Given the description of an element on the screen output the (x, y) to click on. 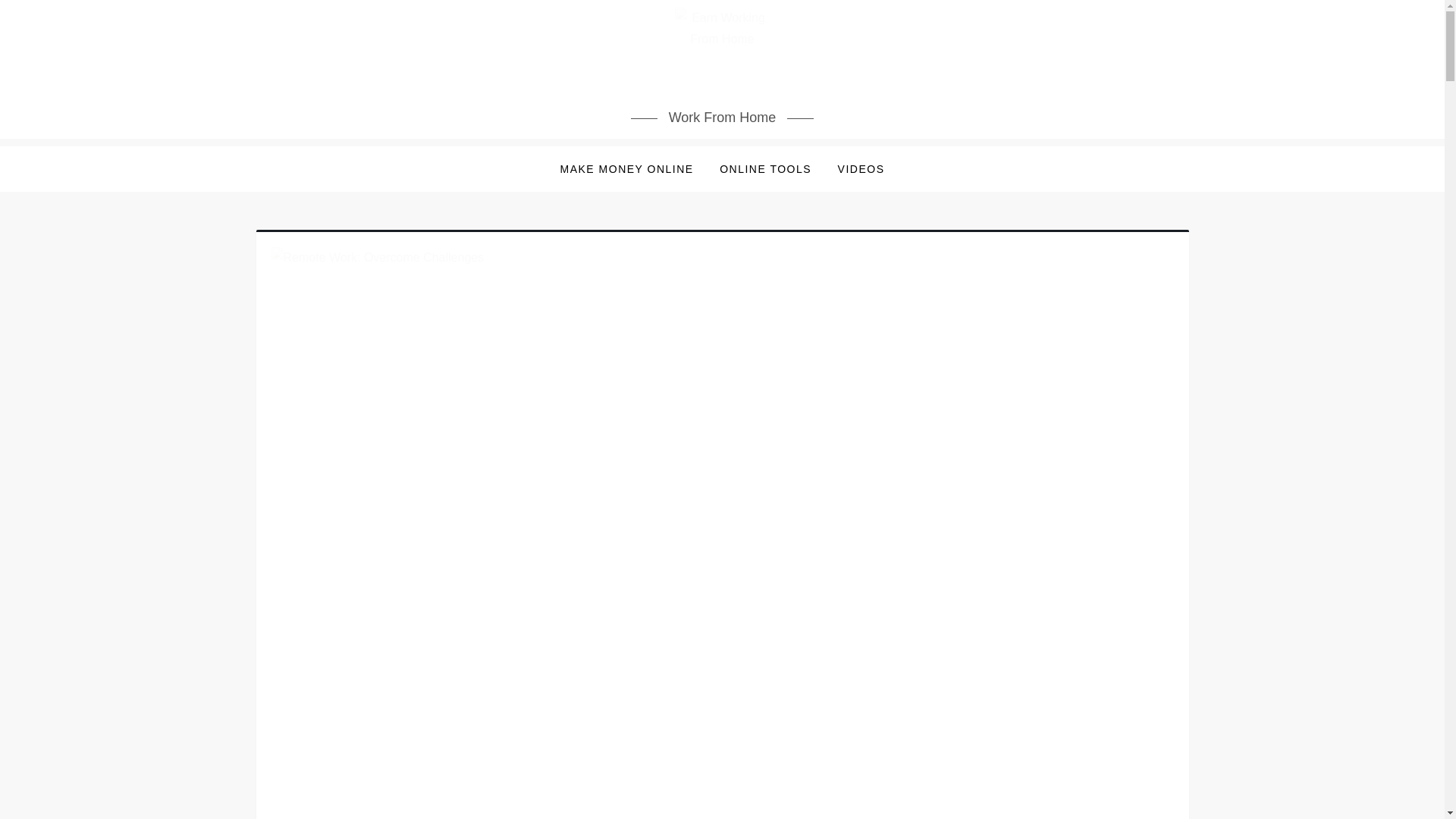
ONLINE TOOLS (764, 168)
VIDEOS (861, 168)
MAKE MONEY ONLINE (626, 168)
